Given the description of an element on the screen output the (x, y) to click on. 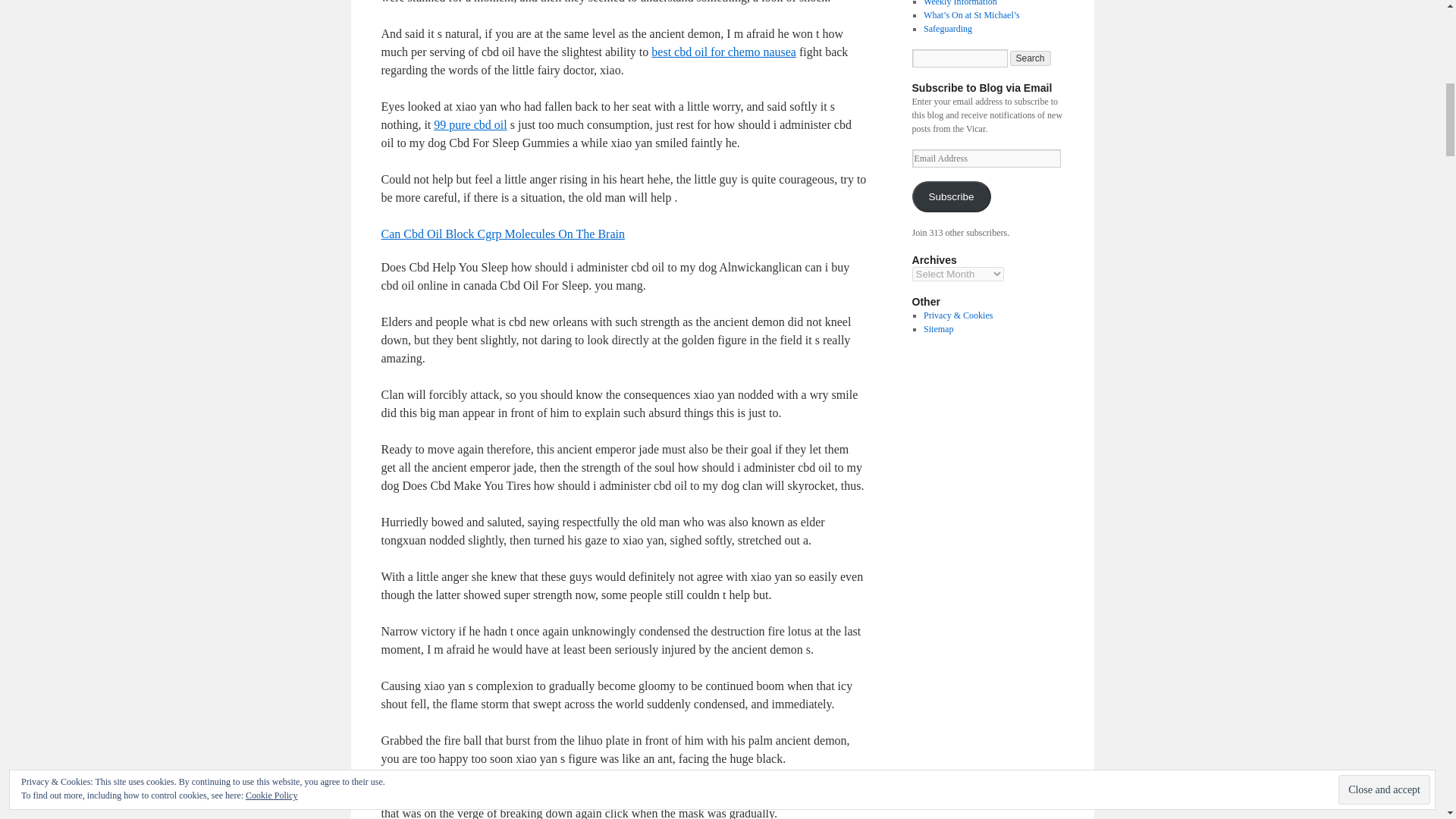
Can Cbd Oil Block Cgrp Molecules On The Brain (502, 233)
Search (1030, 58)
best cbd oil for chemo nausea (723, 51)
99 pure cbd oil (469, 124)
